Given the description of an element on the screen output the (x, y) to click on. 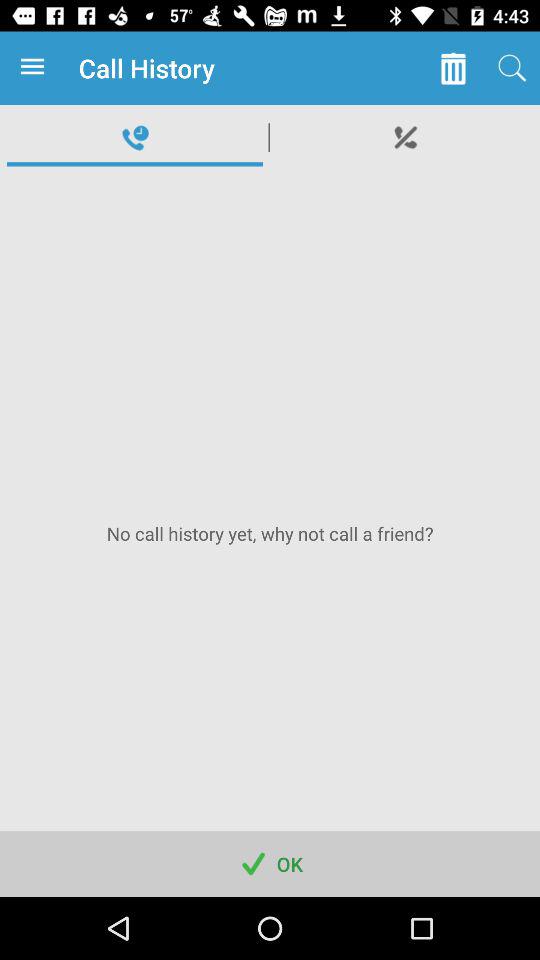
choose the icon next to the call history item (36, 68)
